Given the description of an element on the screen output the (x, y) to click on. 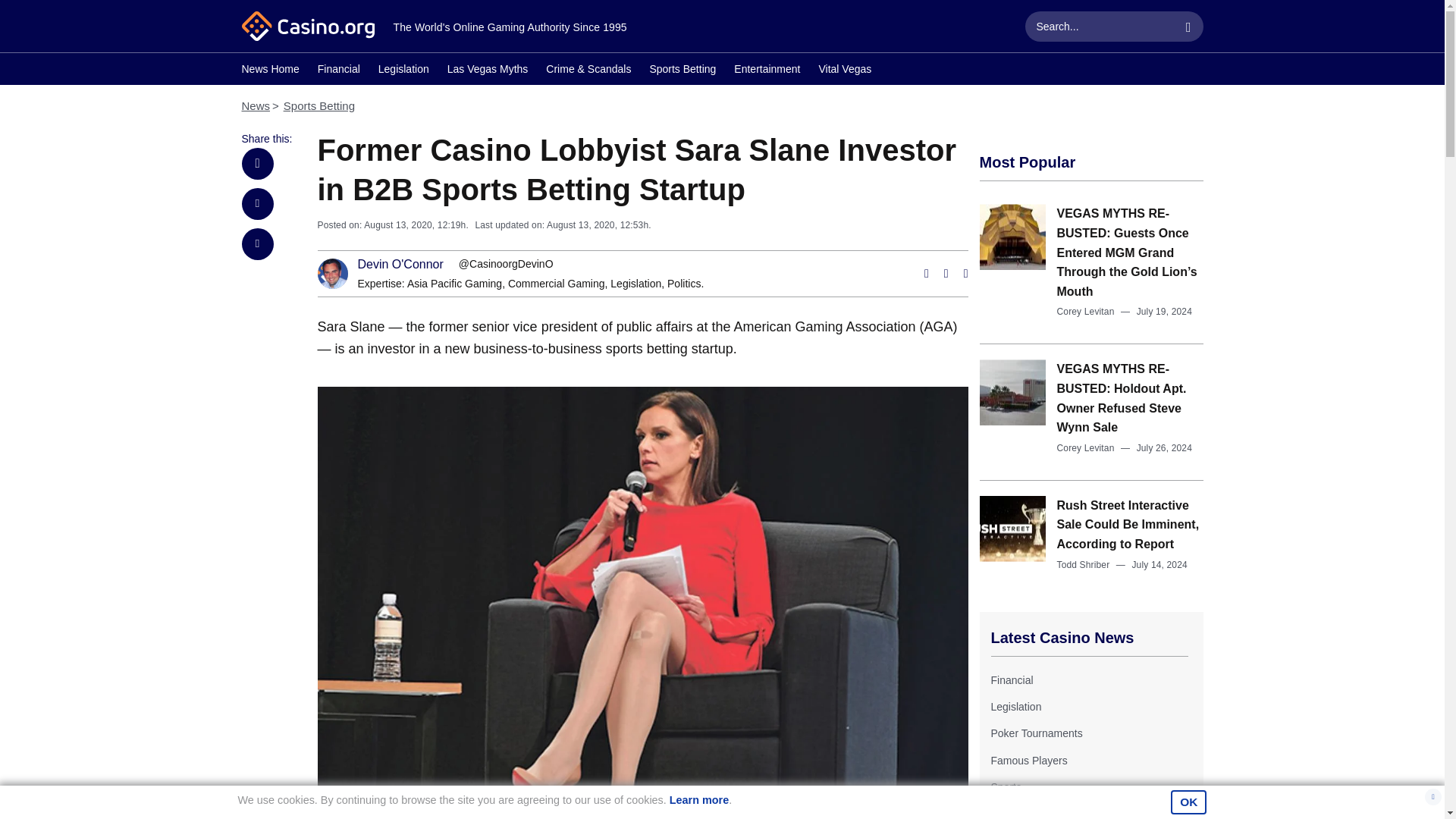
News Home (269, 70)
Poker Tournaments (1035, 733)
Financial (1011, 680)
Legislation (635, 283)
Las Vegas Myths (487, 70)
Asia Pacific Gaming (454, 283)
Legislation (635, 283)
Legislation (403, 70)
Commercial Gaming (556, 283)
Sports Betting (319, 105)
Sports Betting (682, 70)
Asia Pacific Gaming (454, 283)
Todd Shriber (1083, 564)
